Given the description of an element on the screen output the (x, y) to click on. 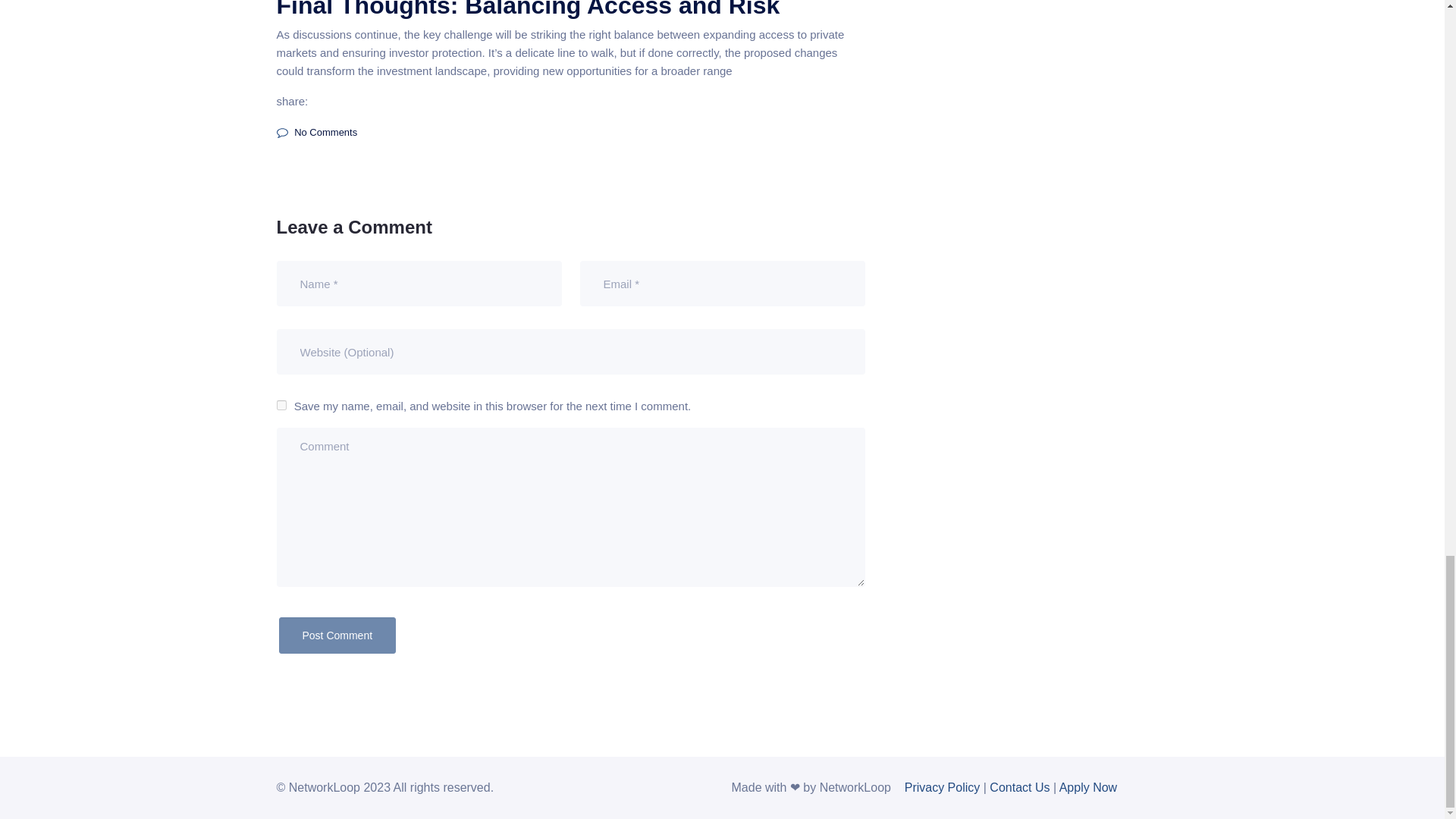
No Comments (316, 132)
Post Comment (337, 635)
yes (280, 405)
Post Comment (337, 635)
